Given the description of an element on the screen output the (x, y) to click on. 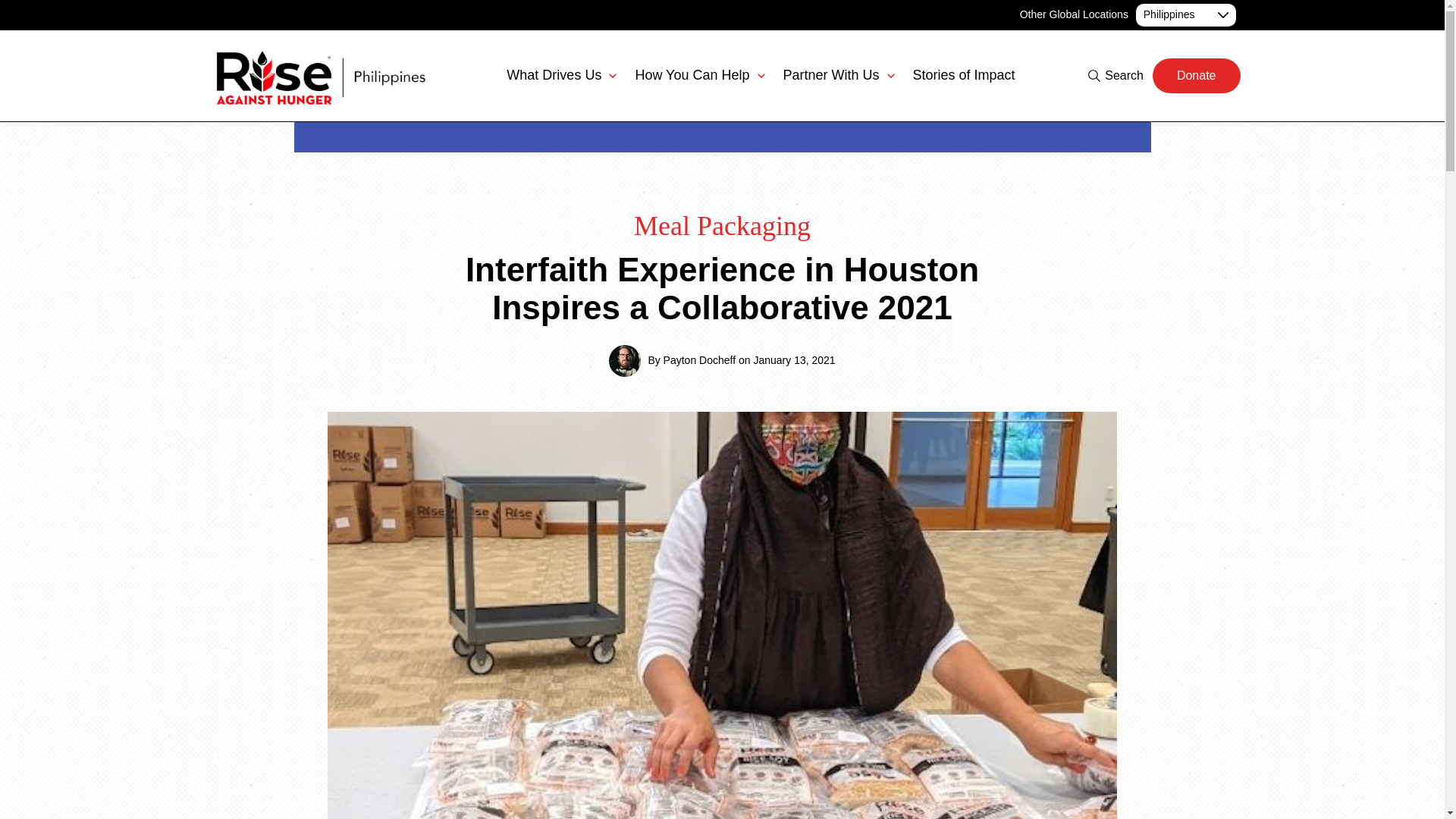
  Search (1114, 75)
Rise Against Hunger homepage (316, 75)
Donate (1196, 75)
What Drives Us (560, 75)
Partner With Us (838, 75)
Stories of Impact (963, 75)
How You Can Help (699, 75)
